Given the description of an element on the screen output the (x, y) to click on. 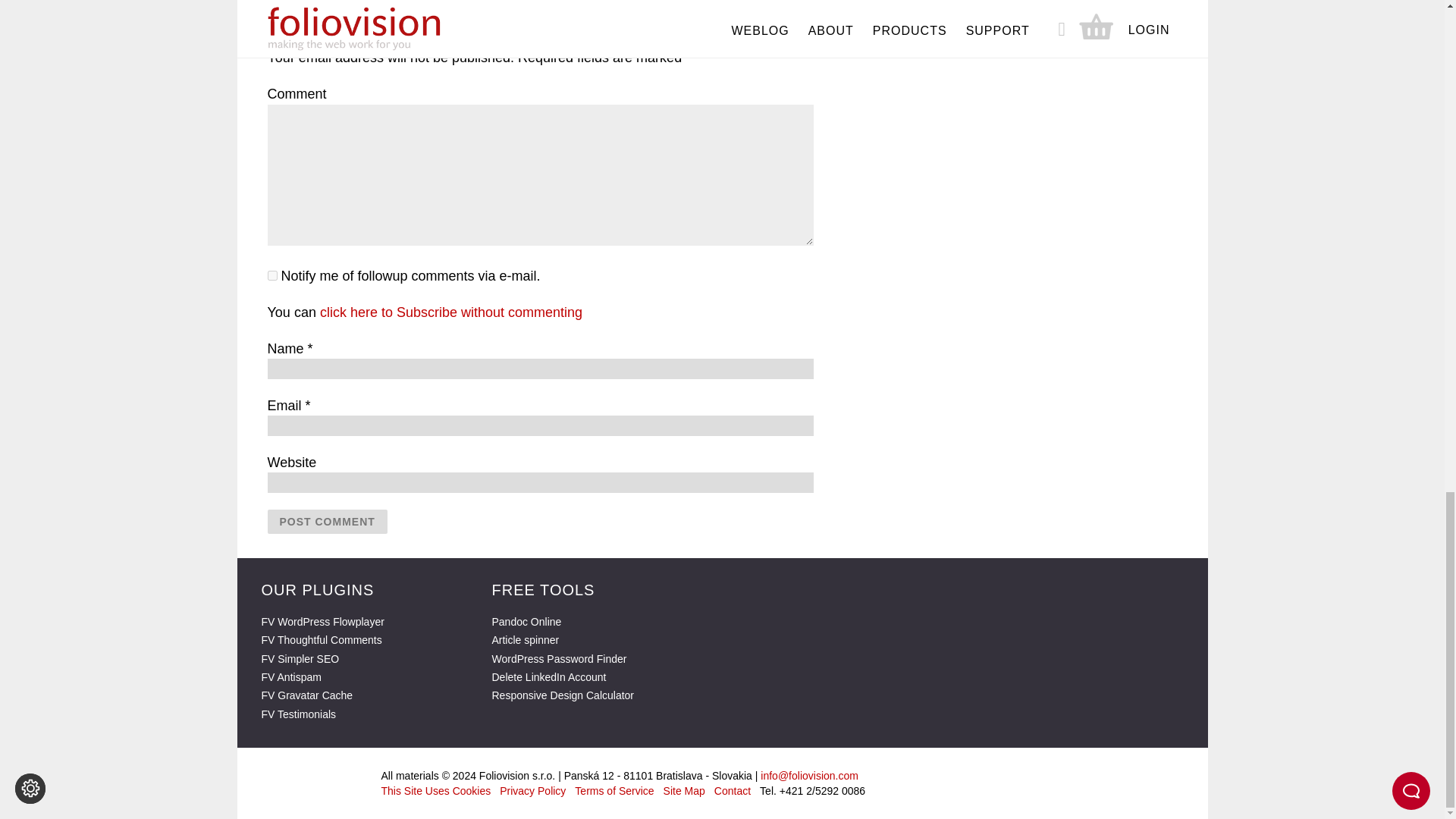
Post Comment (326, 521)
1 (271, 275)
